Given the description of an element on the screen output the (x, y) to click on. 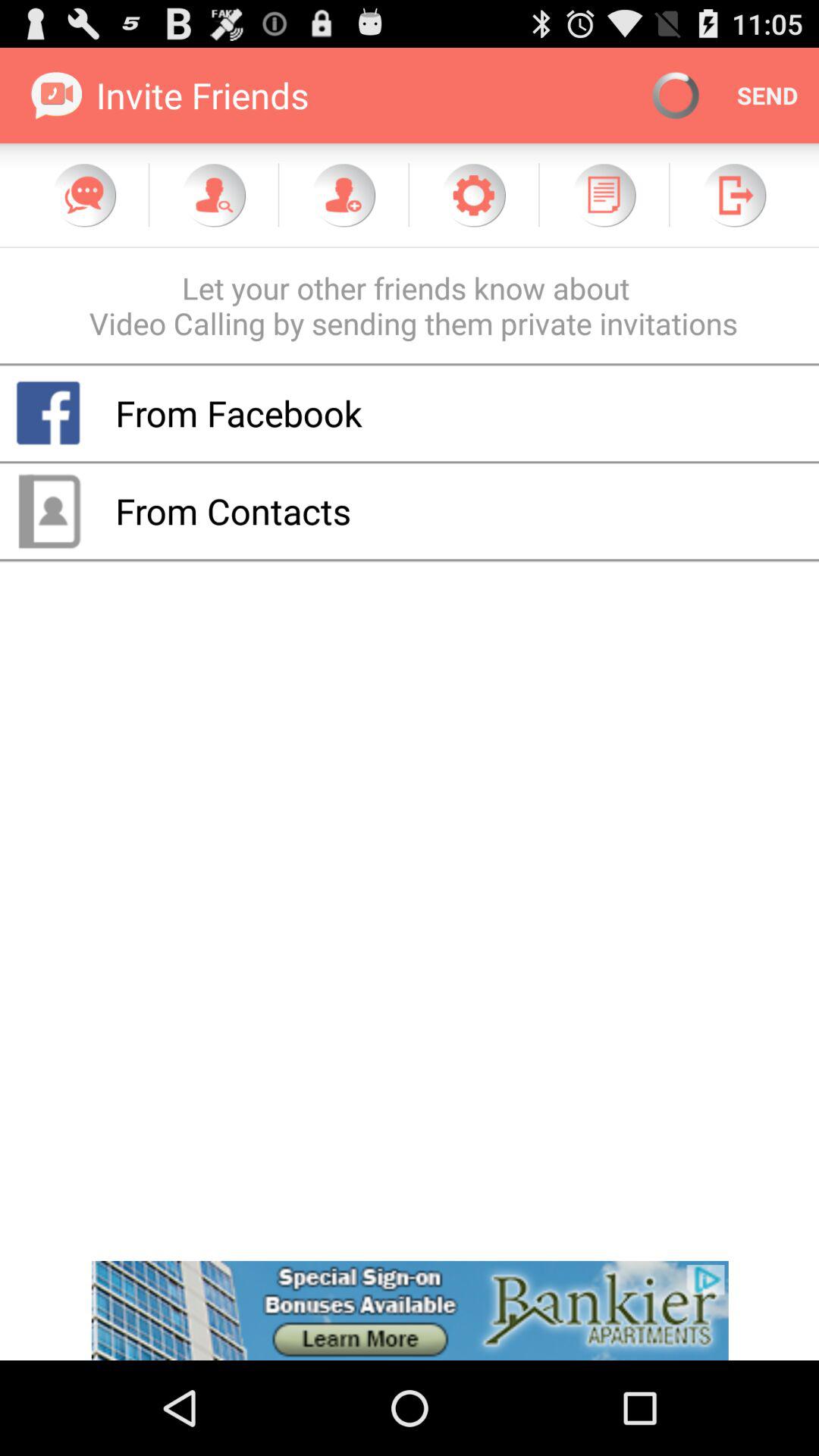
contact (343, 194)
